Given the description of an element on the screen output the (x, y) to click on. 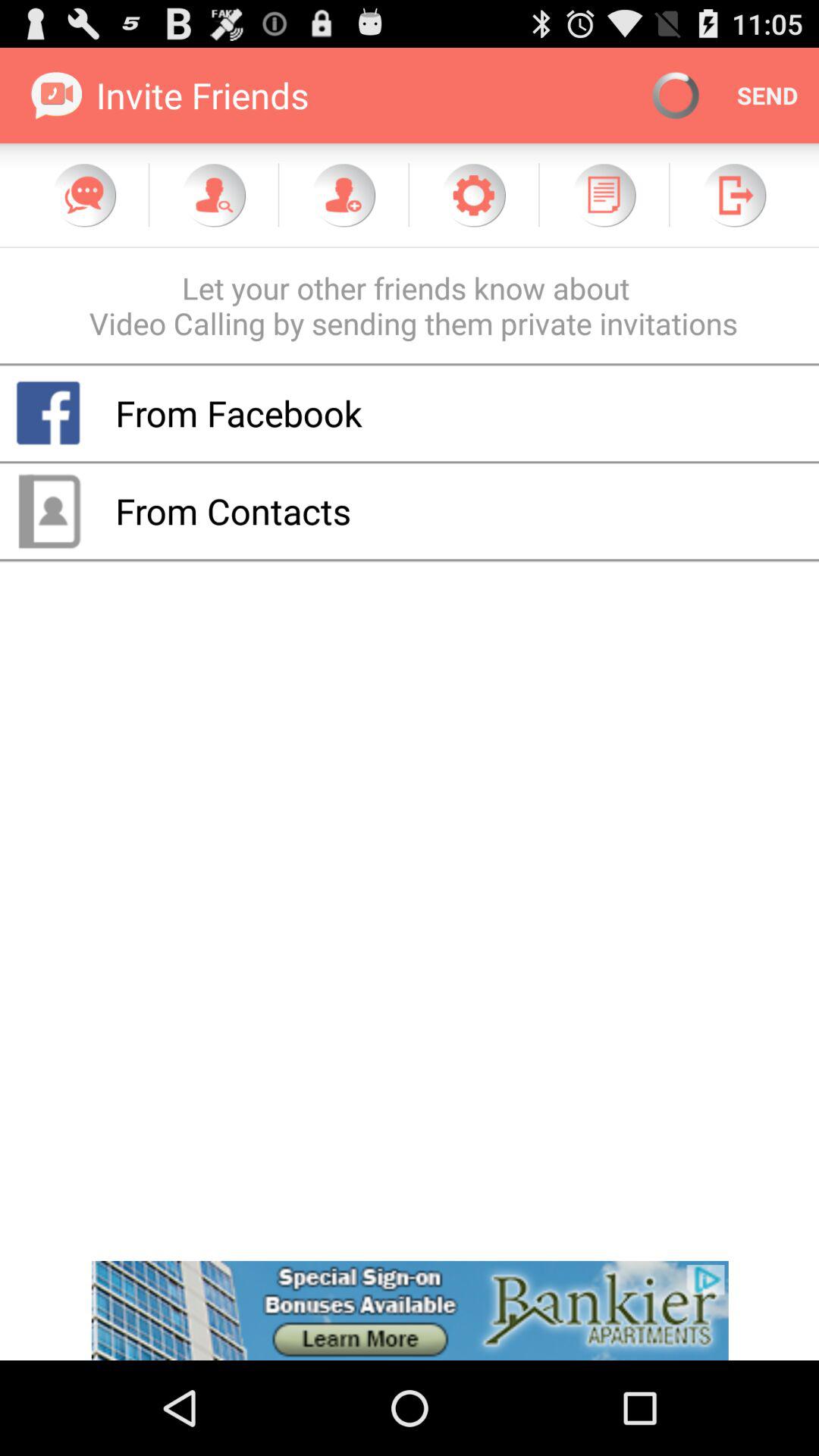
contact (343, 194)
